Given the description of an element on the screen output the (x, y) to click on. 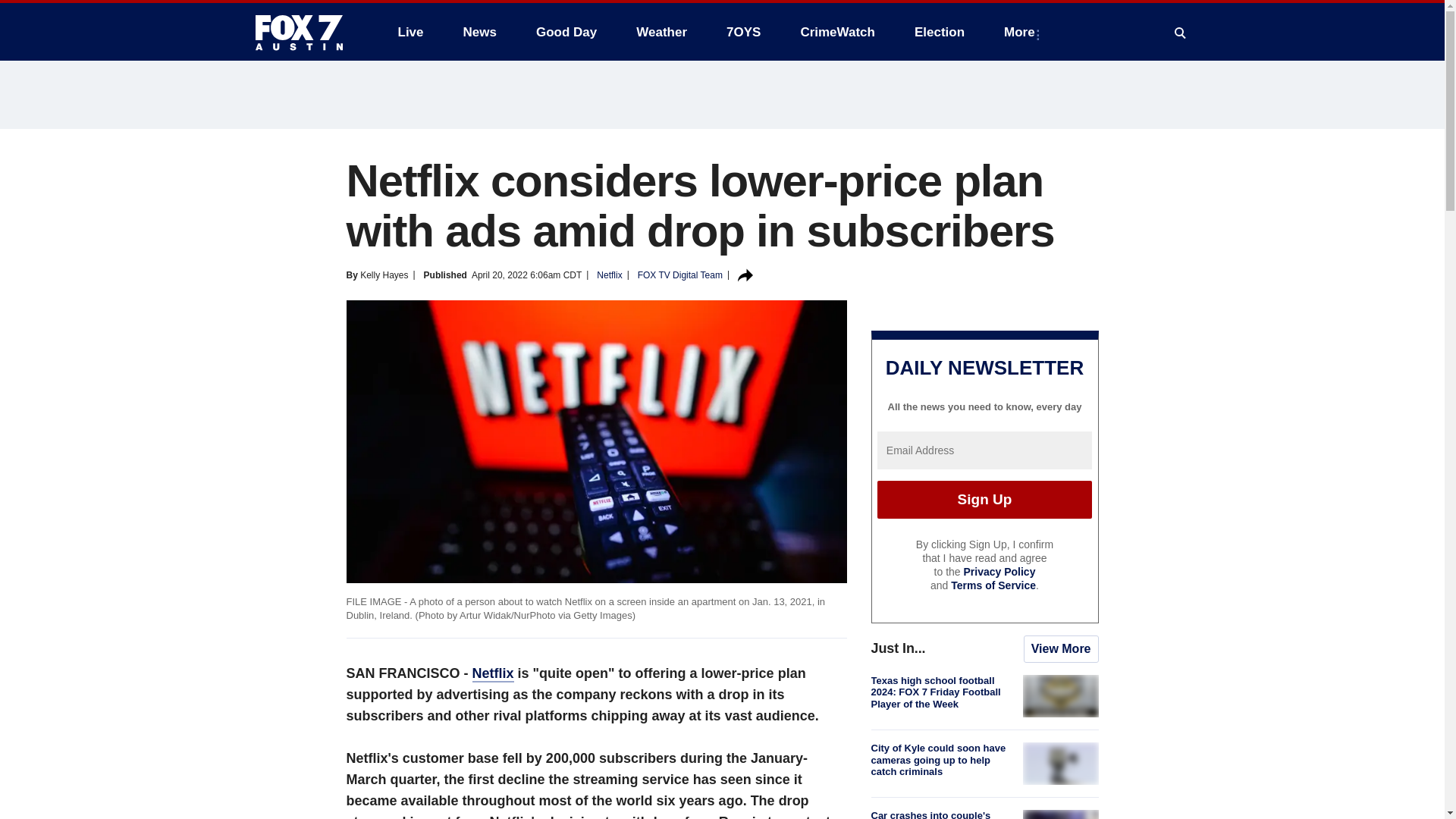
Sign Up (984, 499)
CrimeWatch (836, 32)
Weather (661, 32)
Good Day (566, 32)
More (1021, 32)
Election (939, 32)
Live (410, 32)
News (479, 32)
7OYS (743, 32)
